Given the description of an element on the screen output the (x, y) to click on. 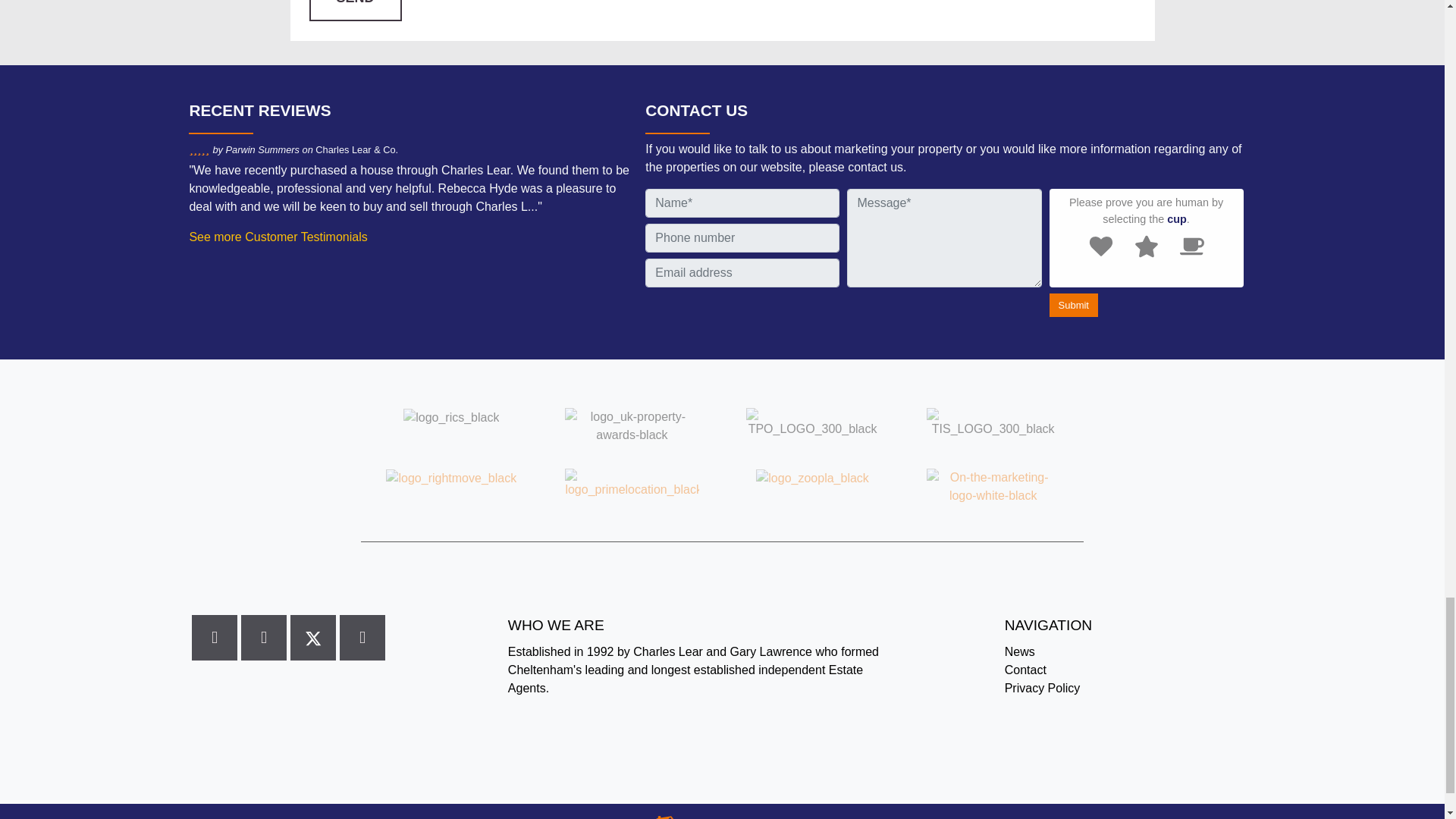
Submit (1073, 305)
Send (354, 10)
